Given the description of an element on the screen output the (x, y) to click on. 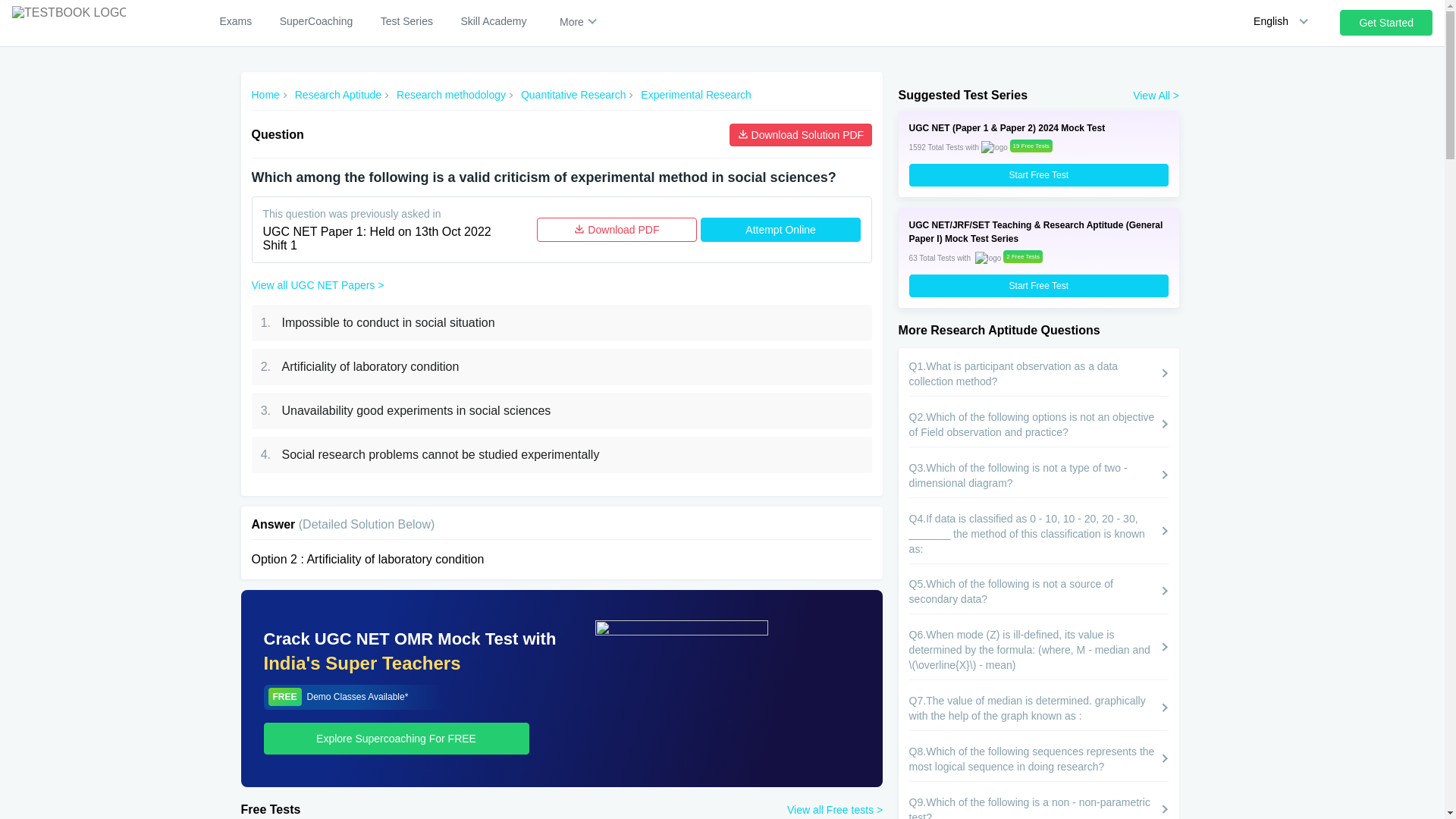
Experimental Research (695, 94)
Experimental Research (695, 94)
SuperCoaching (316, 21)
Download PDF (617, 229)
Quantitative Research (573, 94)
Research Aptitude (338, 94)
Research methodology (450, 94)
Get Started (1385, 22)
Exams (234, 21)
Home (265, 94)
Quantitative Research (573, 94)
Skill Academy (493, 21)
Download Solution PDF (800, 134)
Test Series (406, 21)
Attempt Online (780, 229)
